Given the description of an element on the screen output the (x, y) to click on. 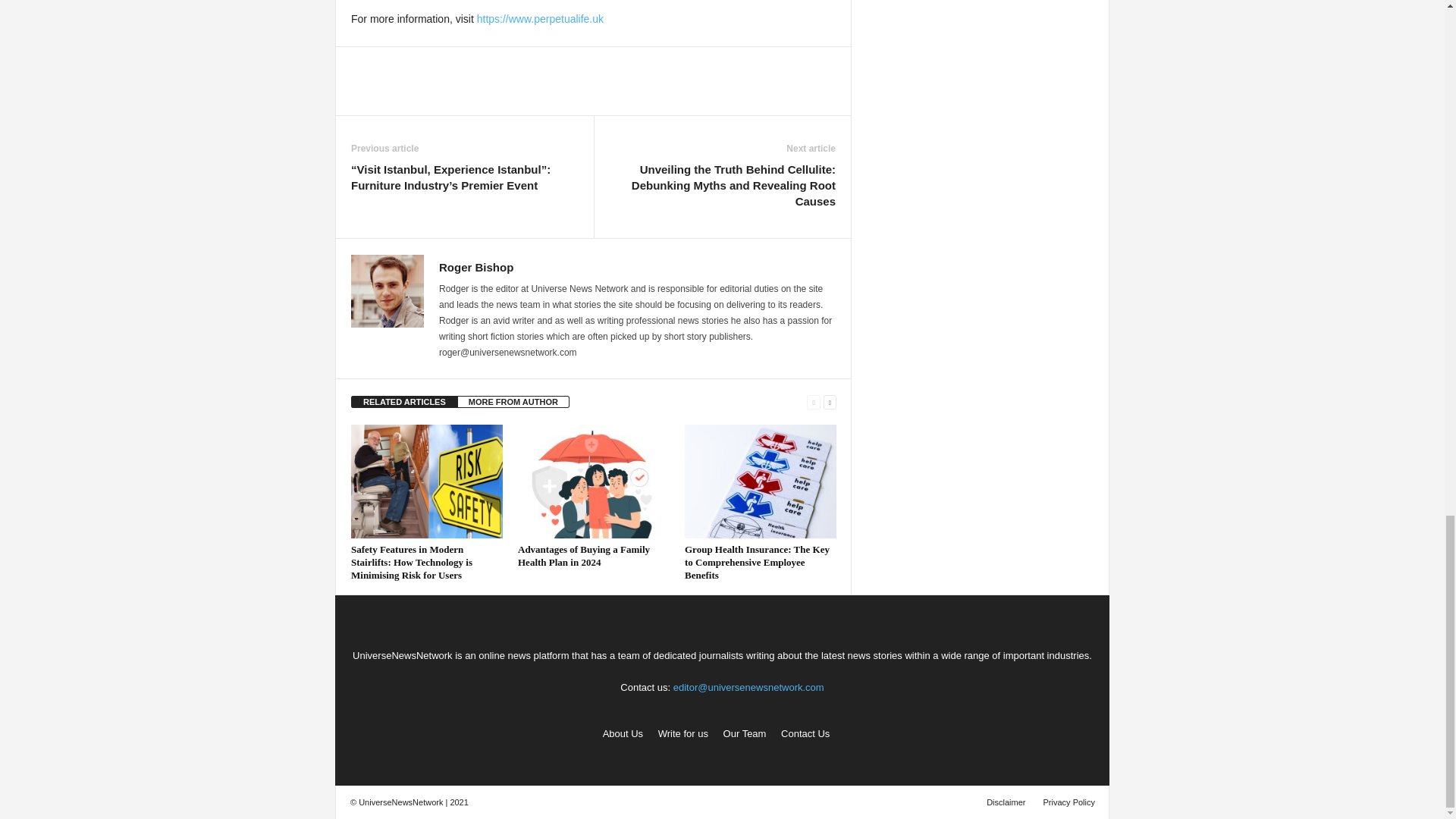
Roger Bishop (476, 267)
bottomFacebookLike (390, 62)
